Given the description of an element on the screen output the (x, y) to click on. 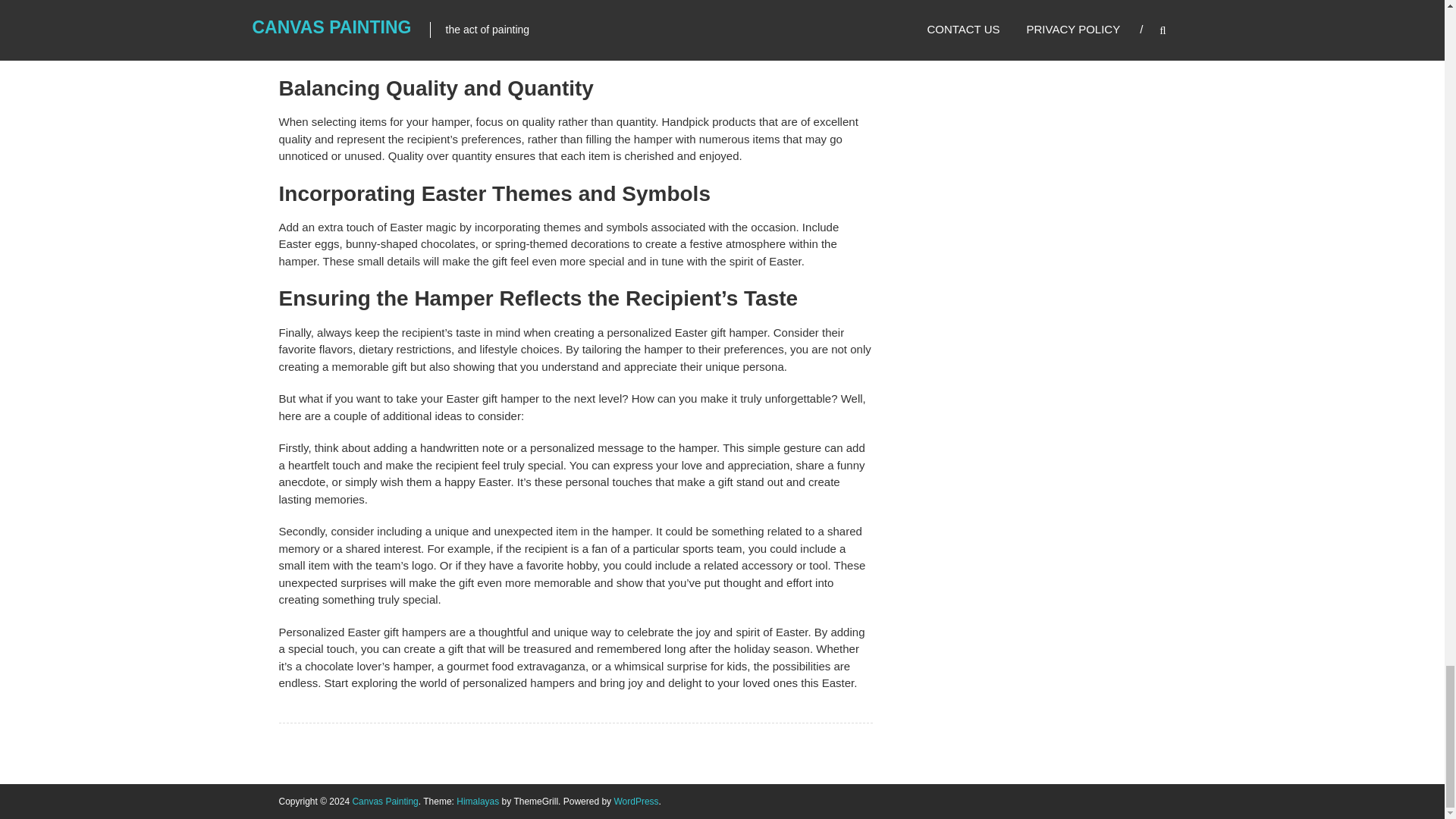
WordPress (635, 801)
Himalayas (478, 801)
Canvas Painting (384, 801)
